Given the description of an element on the screen output the (x, y) to click on. 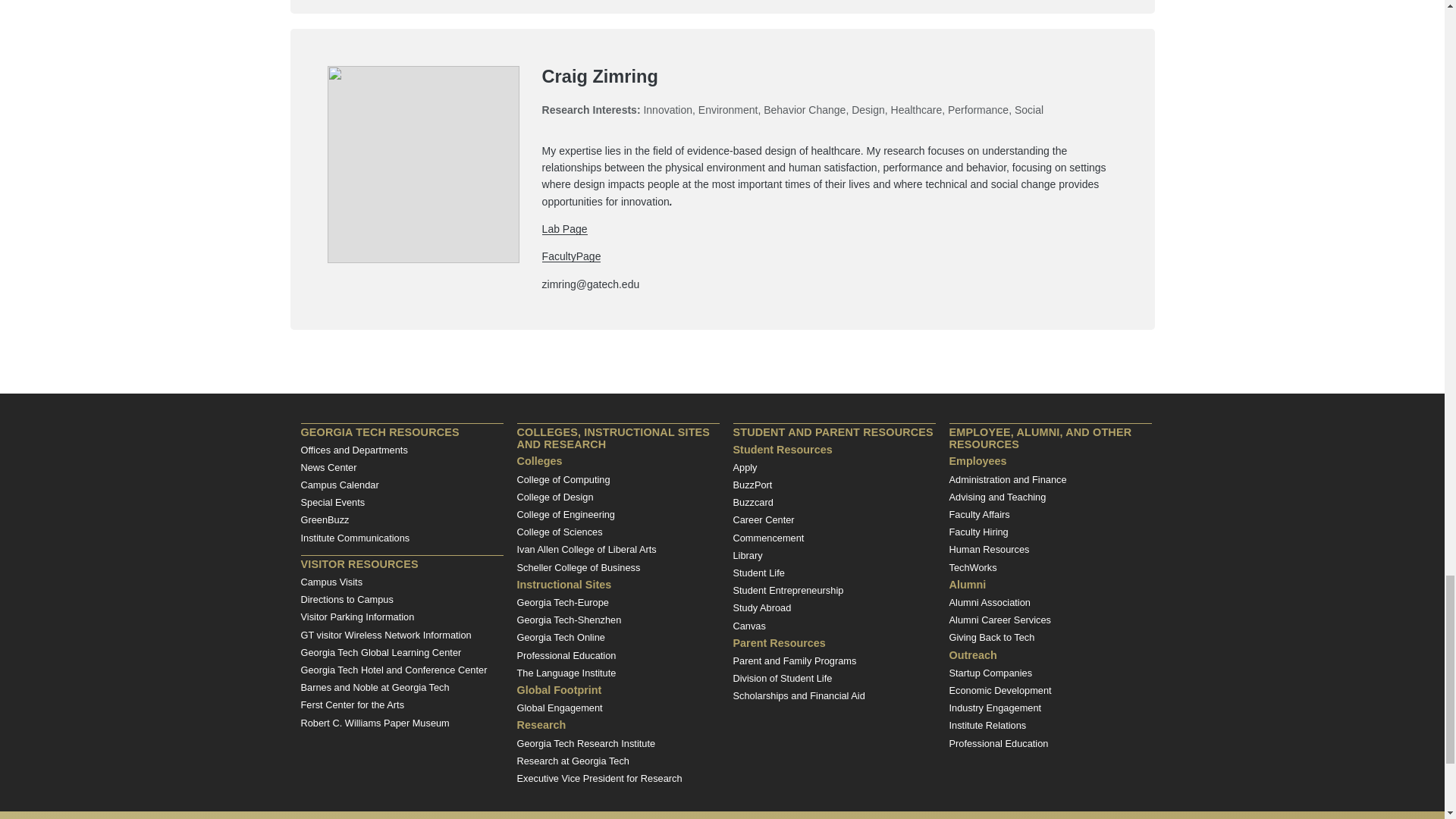
GEORGIA TECH RESOURCES (400, 430)
FacultyPage (571, 256)
Lab Page (564, 228)
